Given the description of an element on the screen output the (x, y) to click on. 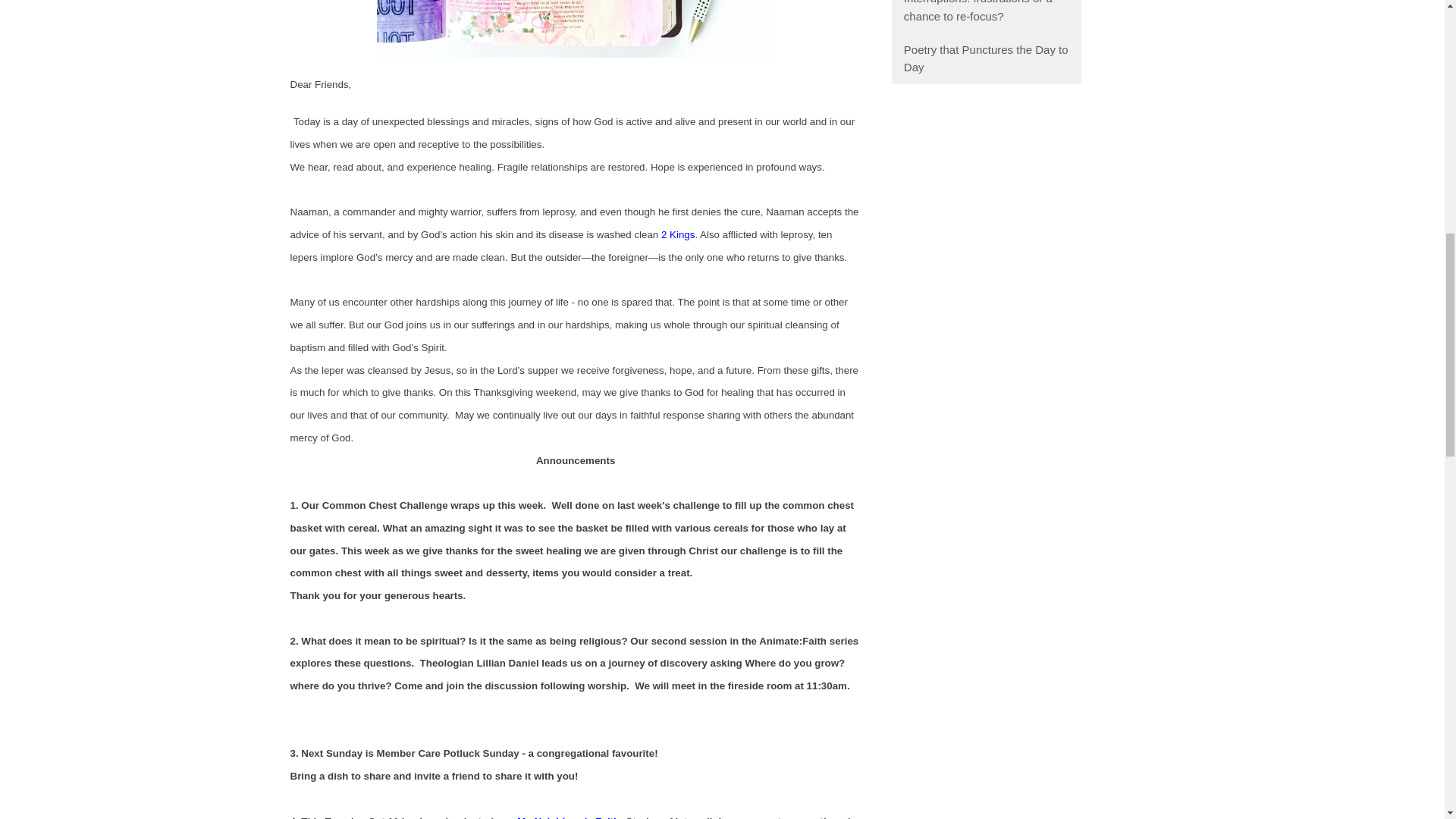
Poetry that Punctures the Day to Day (986, 58)
My Neighbour's Faith (568, 817)
Interruptions: frustrations or a chance to re-focus? (986, 16)
2 Kings (677, 234)
